Given the description of an element on the screen output the (x, y) to click on. 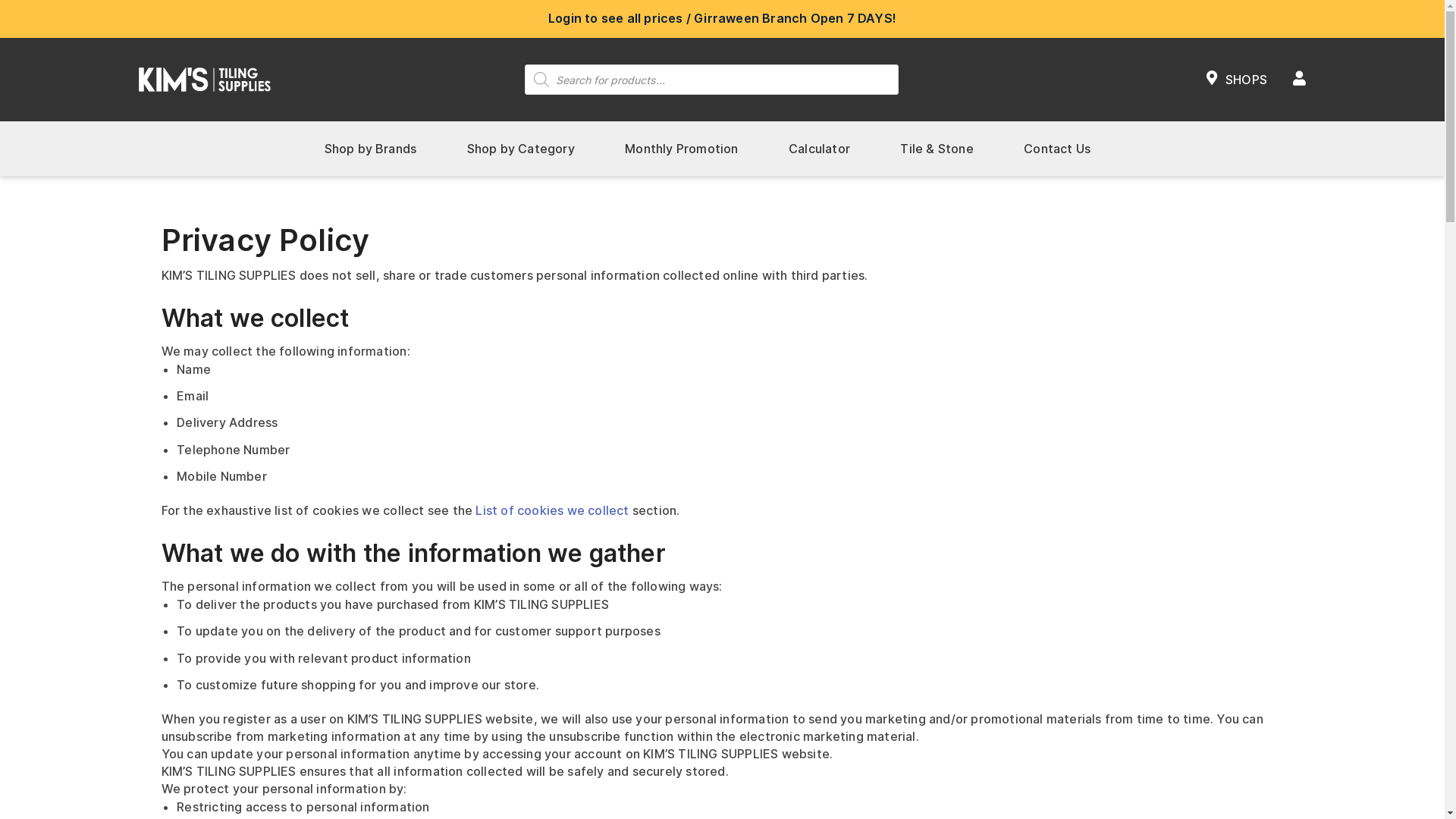
Monthly Promotion Element type: text (680, 148)
SHOPS Element type: text (1236, 79)
Contact Us Element type: text (1056, 148)
acc Element type: text (1298, 79)
List of cookies we collect Element type: text (551, 509)
Shop by Brands Element type: text (369, 148)
Tile & Stone Element type: text (936, 148)
Kims Tiling Supplies - The best one stop tile shop in Sydney Element type: hover (203, 79)
Calculator Element type: text (819, 148)
Shop by Category Element type: text (520, 148)
